Given the description of an element on the screen output the (x, y) to click on. 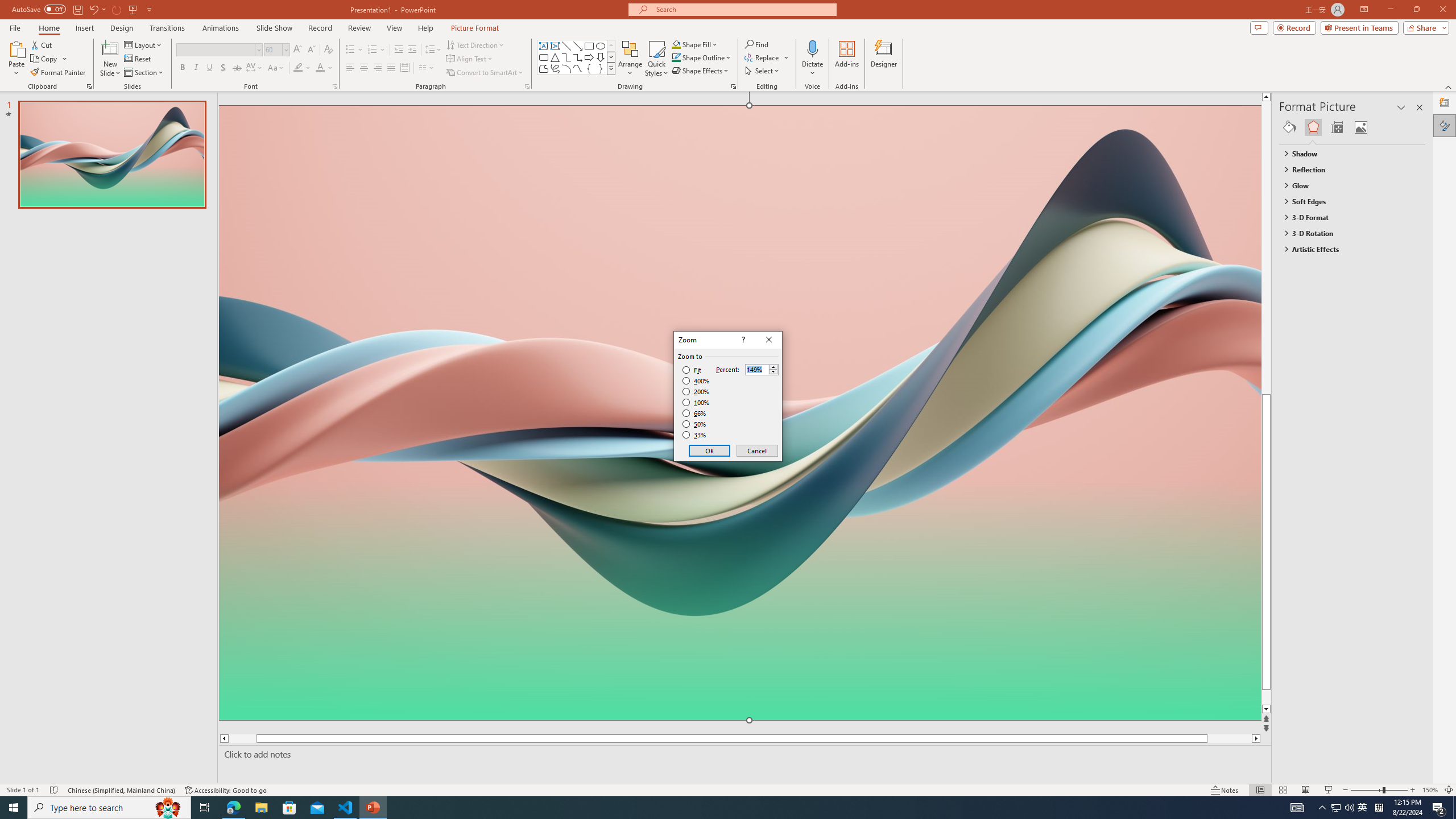
200% (696, 391)
Accessibility Checker Accessibility: Good to go (226, 790)
100% (696, 402)
